Given the description of an element on the screen output the (x, y) to click on. 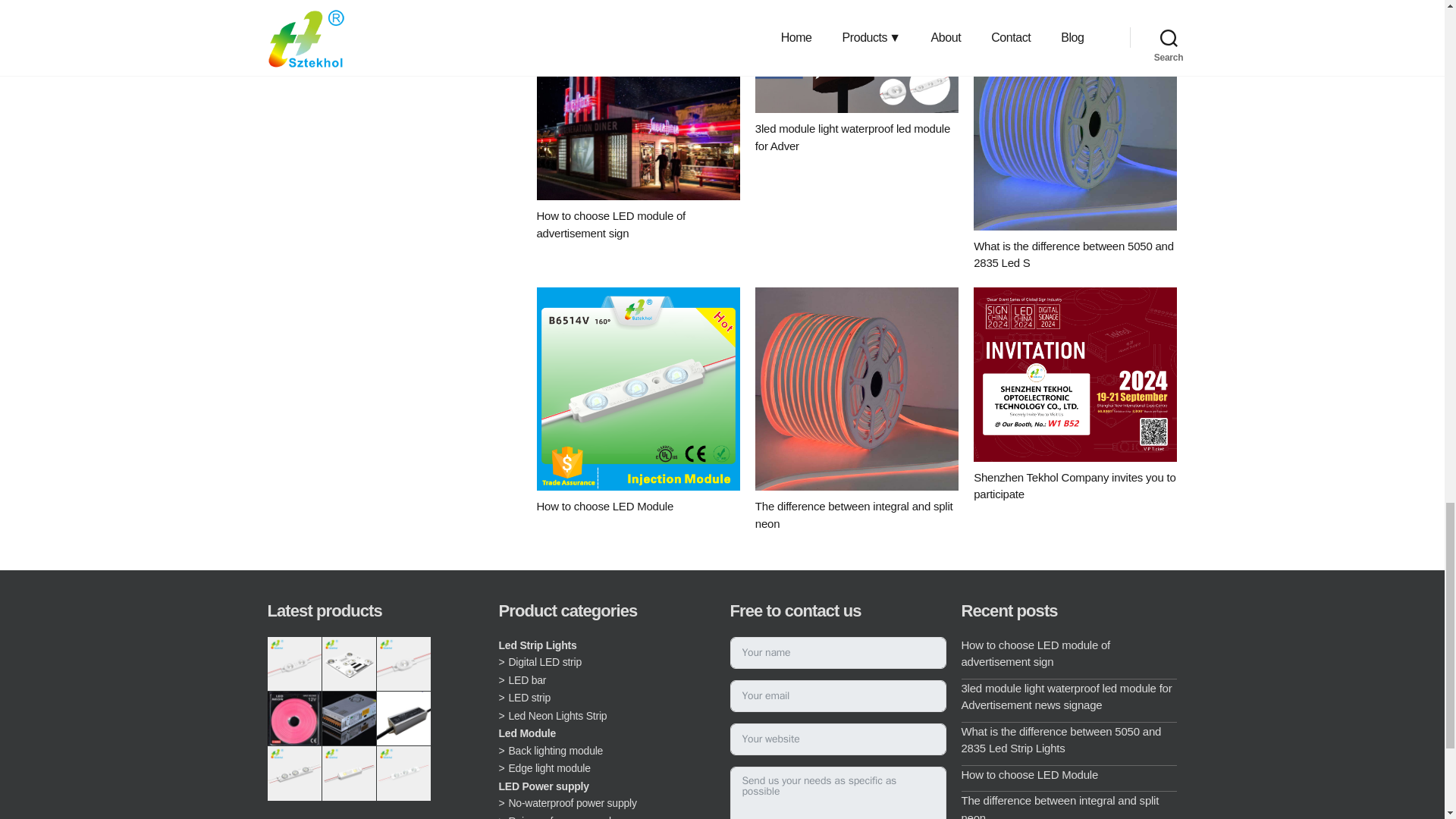
20W Outdoor Waterproof LED Power Supply IP67 12v 24v (403, 718)
LED Module Smd 2835 Back Lighting Moudle (348, 773)
How to choose LED Module (638, 388)
The difference between integral and split neon (856, 388)
TH-6513 LED Module Smd 2835 Back Lighting Moudle (403, 773)
Smd 2835 Module Back Lighting Moudle (293, 773)
TH-1X-PLUS LED Module High brightness (403, 664)
